Given the description of an element on the screen output the (x, y) to click on. 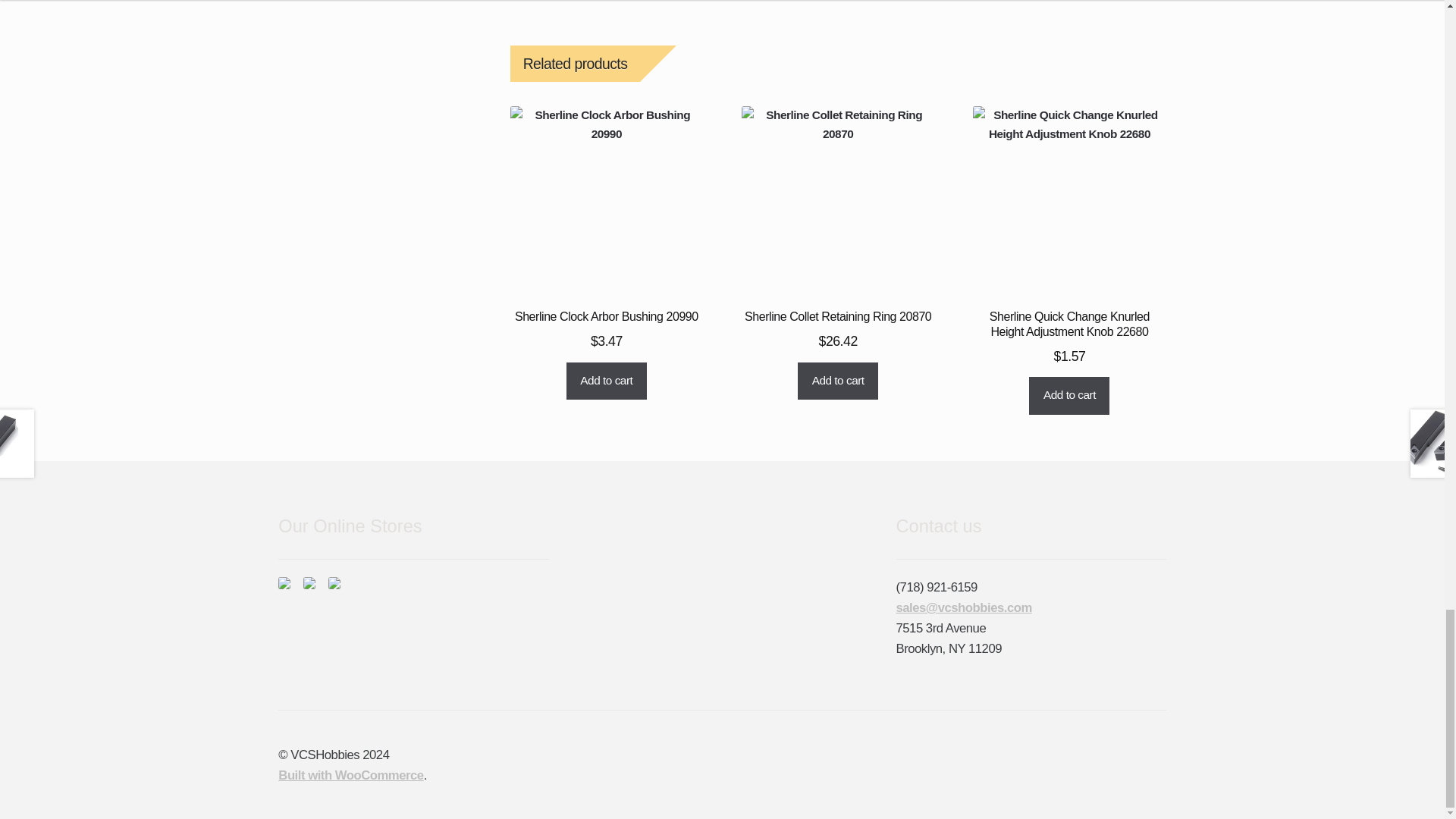
Sherline Collet Retaining Ring 20870 - VCSHobbies (837, 202)
Sherline Clock Arbor Bushing 20990 - VCSHobbies (607, 202)
